Given the description of an element on the screen output the (x, y) to click on. 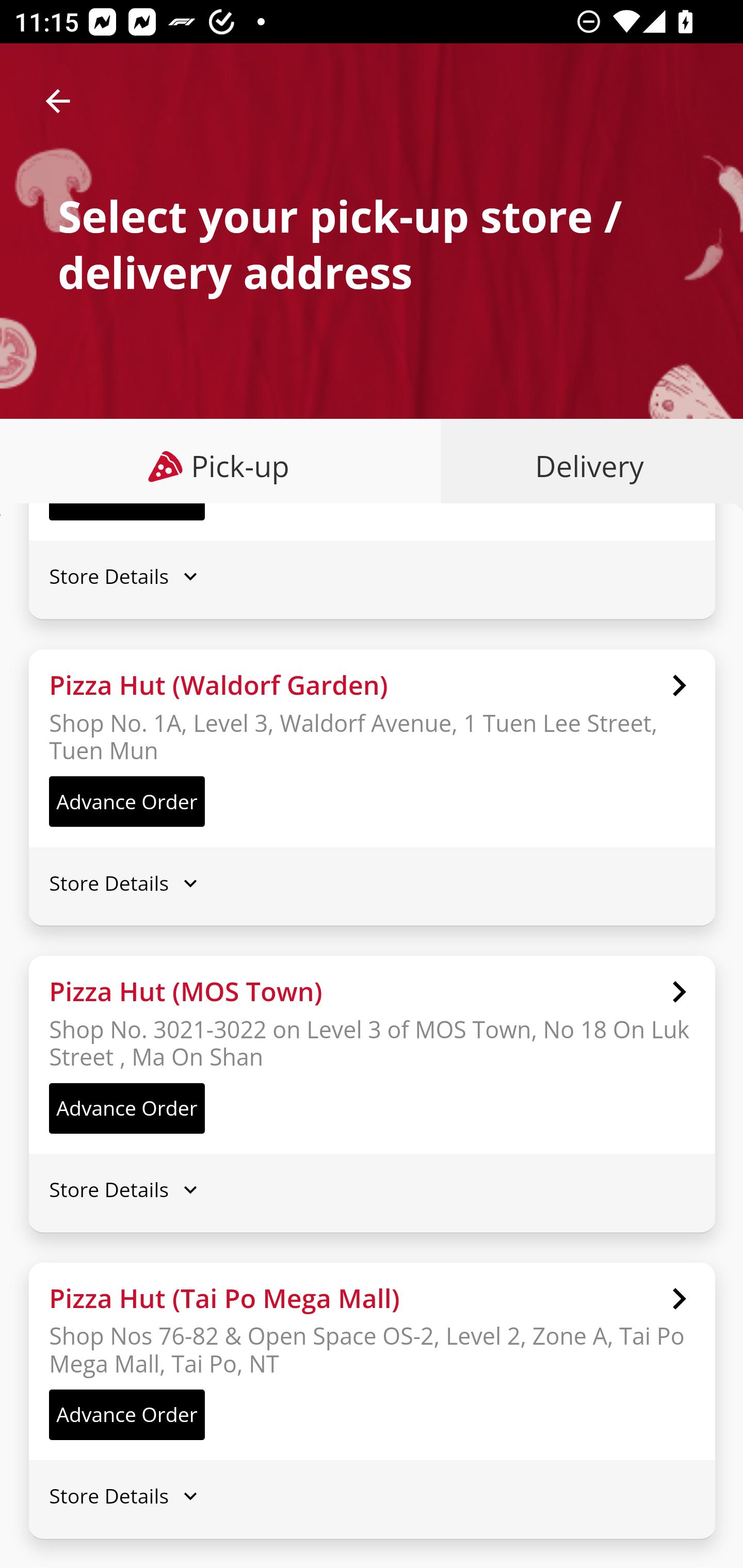
arrow_back (58, 100)
Pick-up (221, 466)
Delivery (585, 466)
Store Details (371, 575)
Store Details (371, 883)
Store Details (371, 1189)
Store Details (371, 1495)
